Given the description of an element on the screen output the (x, y) to click on. 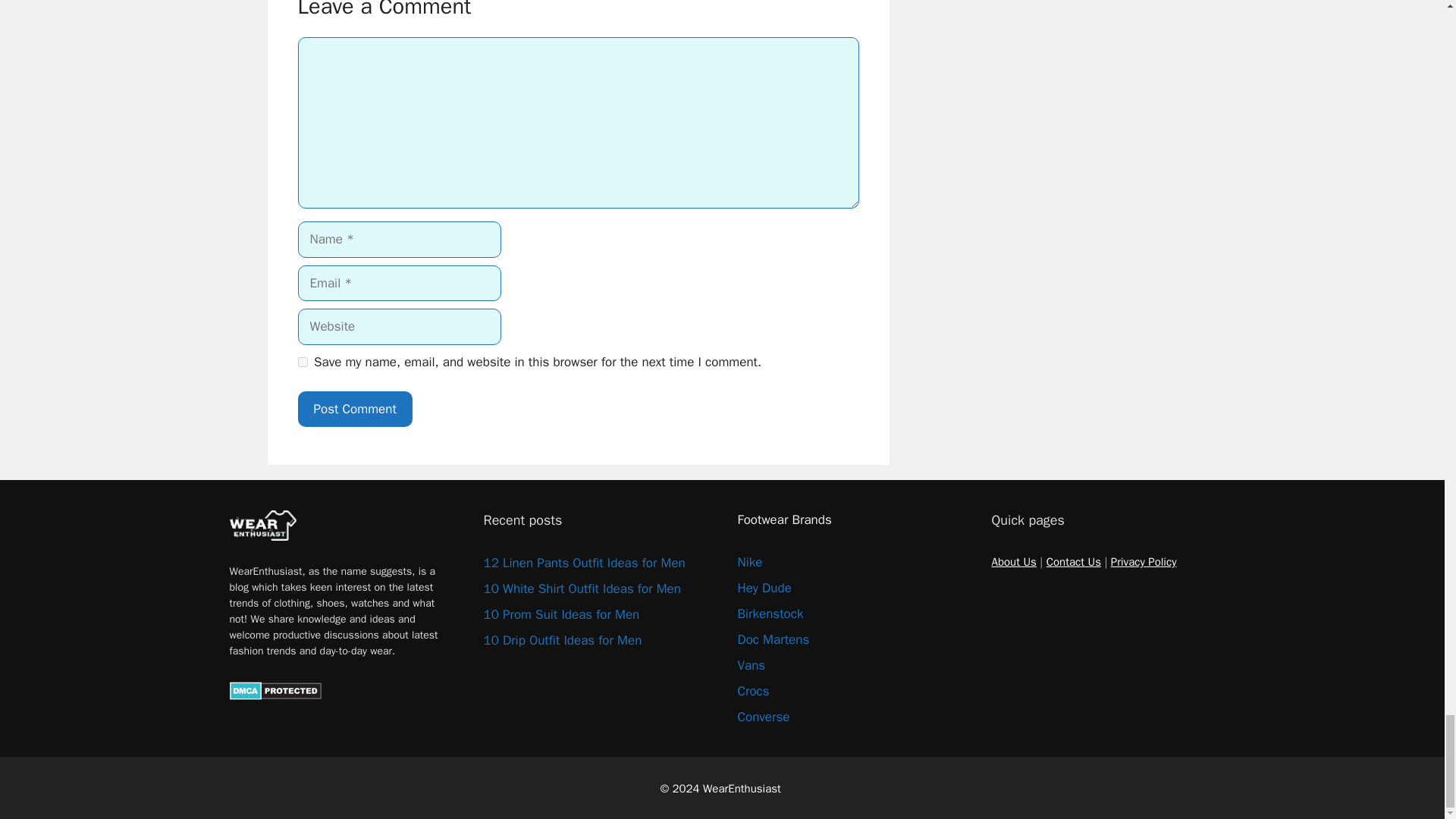
Post Comment (354, 409)
Post Comment (354, 409)
DMCA.com Protection Status (274, 695)
yes (302, 361)
